Given the description of an element on the screen output the (x, y) to click on. 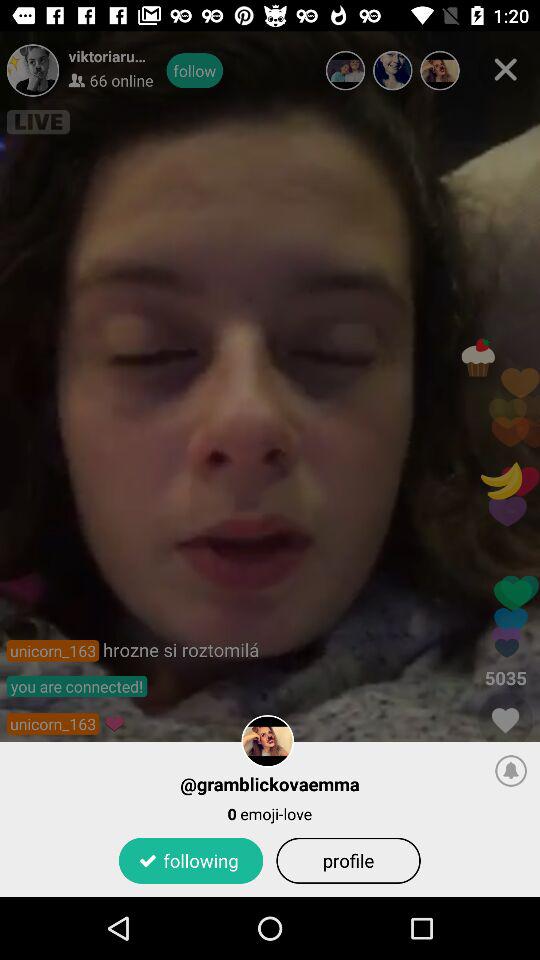
tap item next to the @gramblickovaemma item (511, 770)
